Given the description of an element on the screen output the (x, y) to click on. 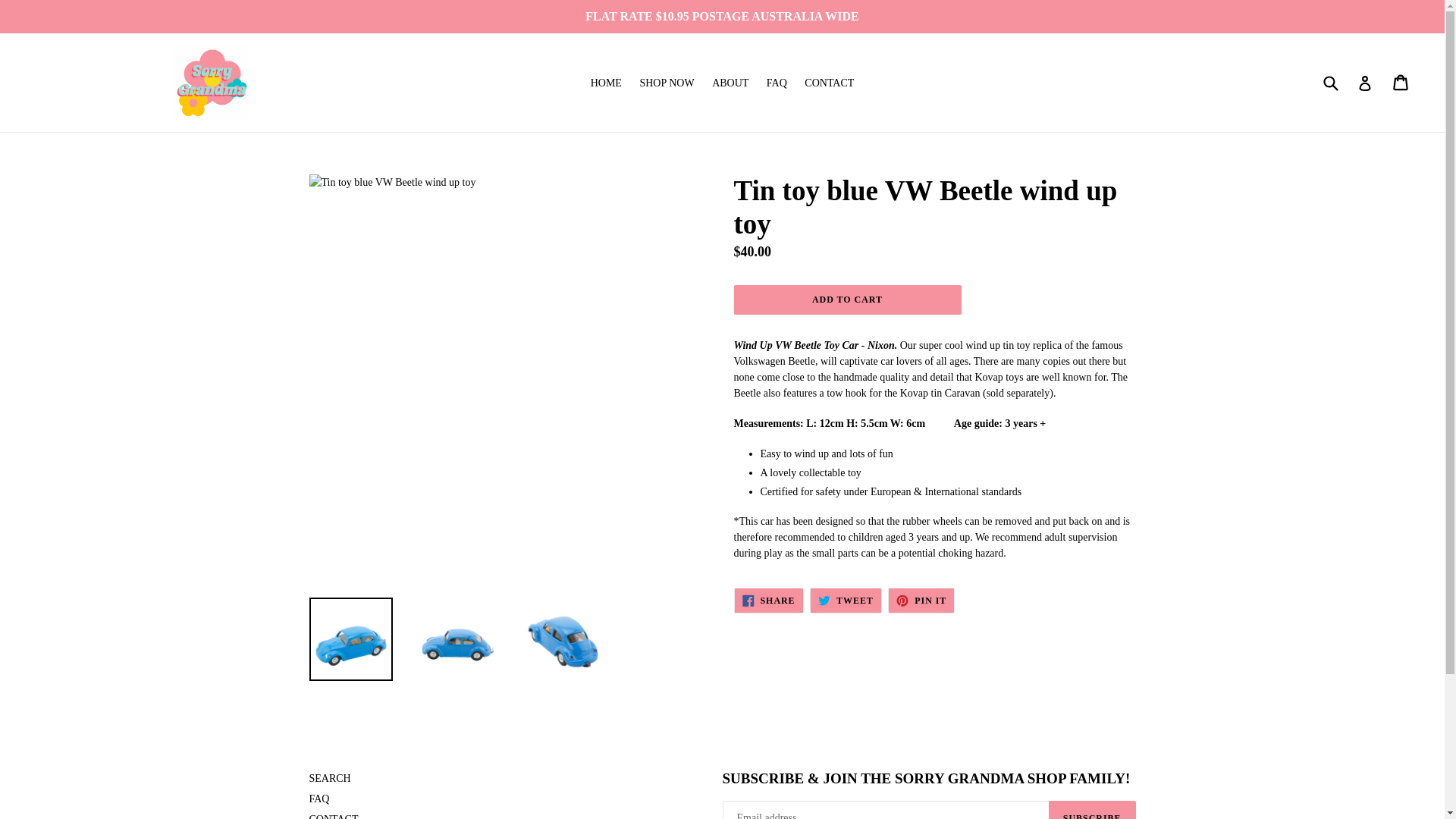
HOME (605, 82)
ABOUT (729, 82)
Submit (1329, 82)
Log in (1364, 82)
SEARCH (768, 600)
Tweet on Twitter (1401, 82)
ADD TO CART (329, 778)
Pin on Pinterest (845, 600)
FAQ (846, 299)
SHOP NOW (921, 600)
Share on Facebook (921, 600)
